Given the description of an element on the screen output the (x, y) to click on. 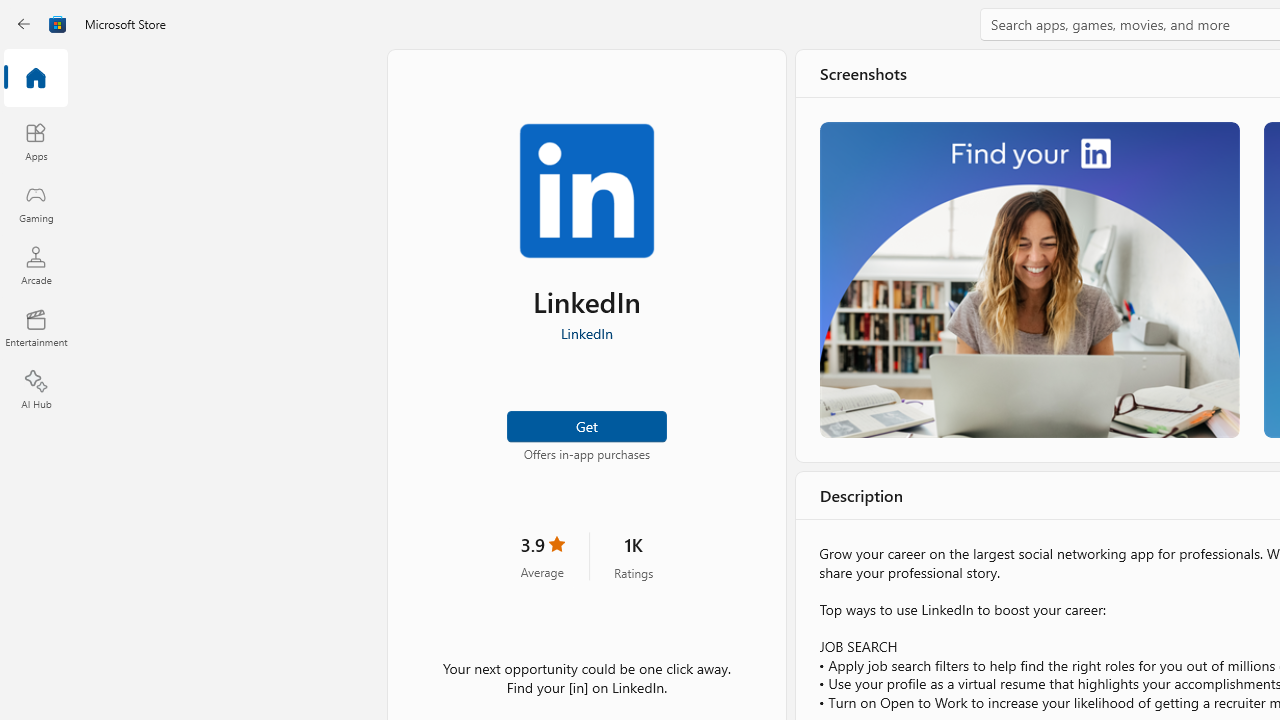
3.9 stars. Click to skip to ratings and reviews (542, 556)
Get (586, 424)
Screenshot 1 (1029, 279)
LinkedIn (585, 333)
Back (24, 24)
